Given the description of an element on the screen output the (x, y) to click on. 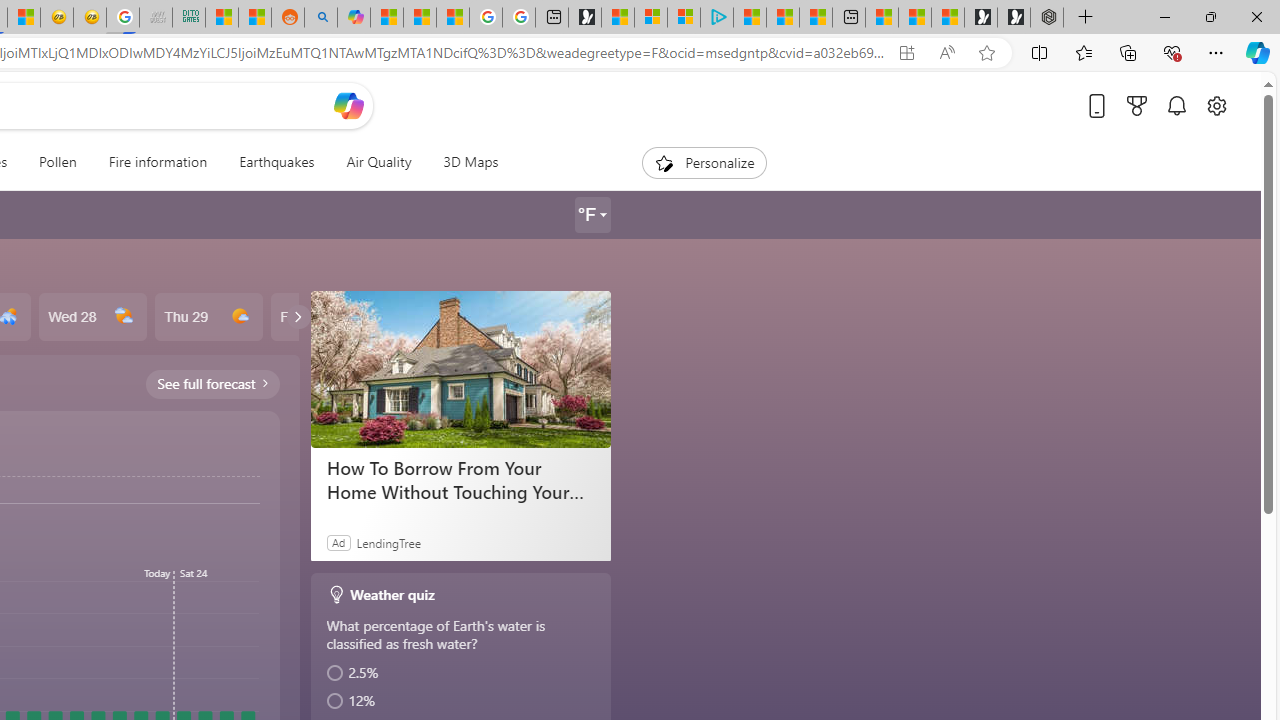
Weather settings (591, 215)
Wed 28 (92, 317)
Earthquakes (276, 162)
12% (462, 701)
Microsoft Copilot in Bing (353, 17)
